Given the description of an element on the screen output the (x, y) to click on. 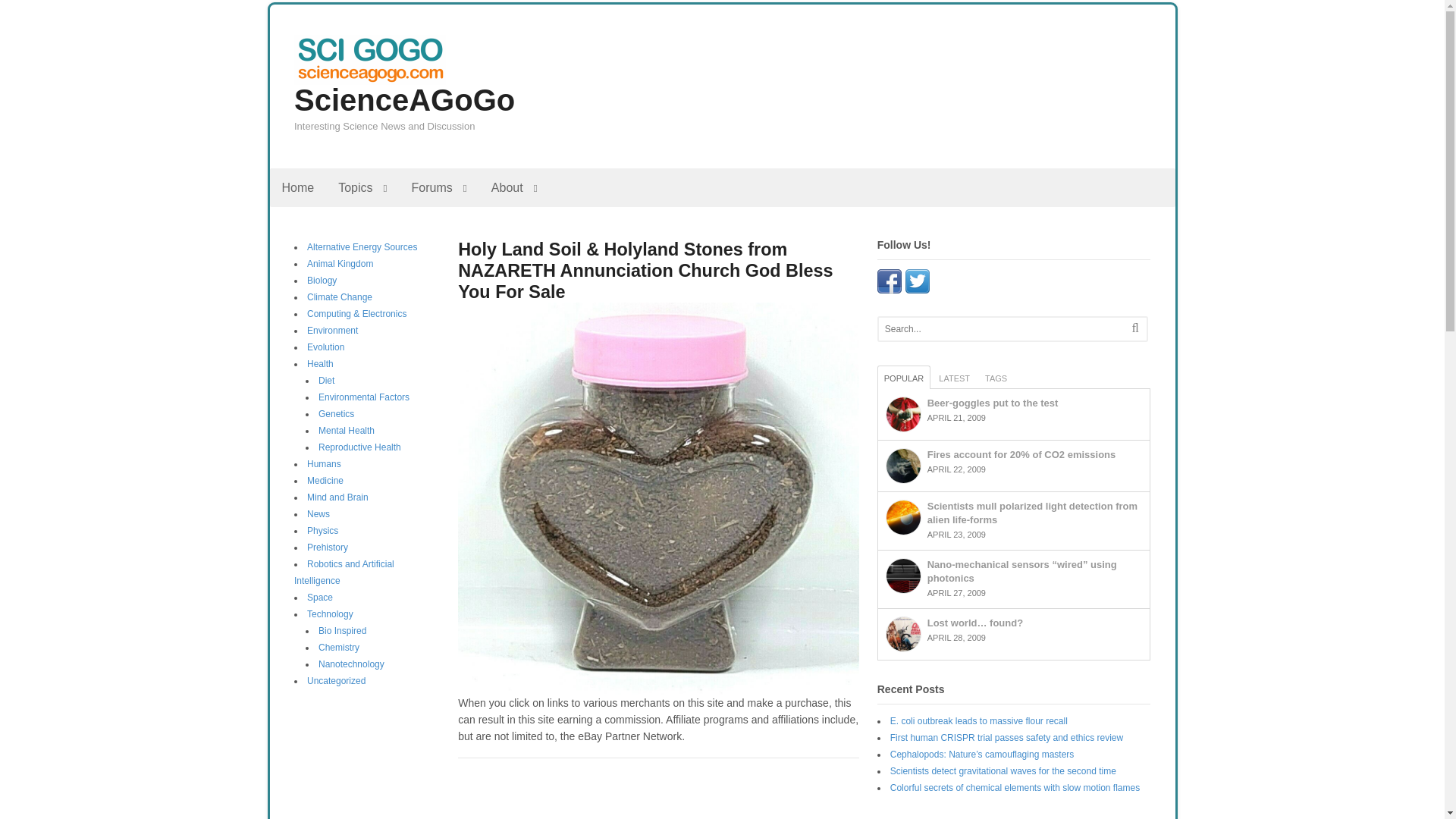
Search... (998, 328)
Connect on Facebook (889, 285)
Topics (362, 187)
Advertisement (658, 796)
About (514, 187)
Forums (438, 187)
Beer-goggles put to the test (992, 402)
Follow scienceagogo on Twitter (917, 285)
Beer-goggles put to the test (903, 414)
Home (297, 187)
Interesting Science News and Discussion (369, 76)
ScienceAGoGo (404, 100)
